Given the description of an element on the screen output the (x, y) to click on. 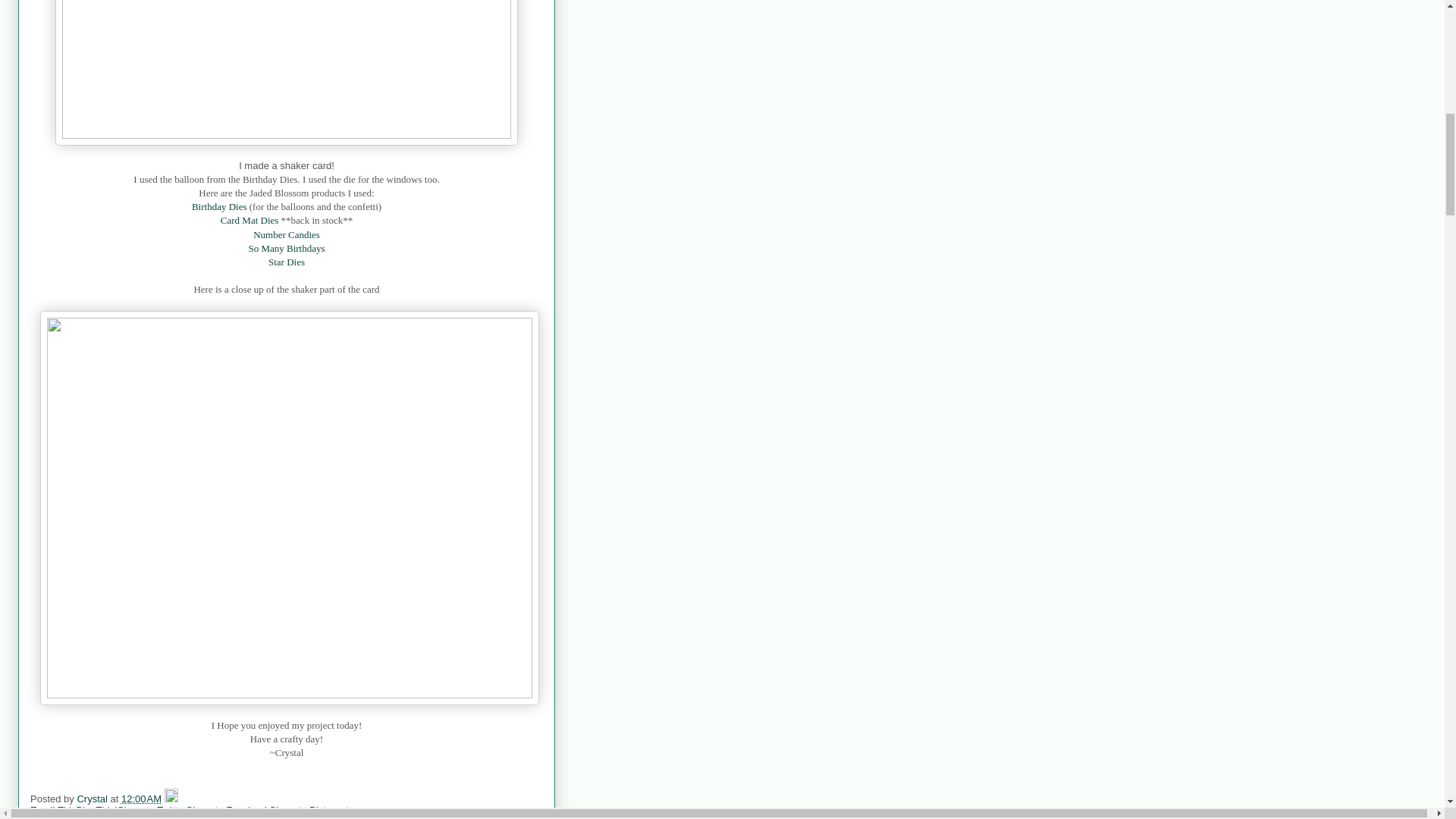
Share to Twitter (151, 809)
Crystal (93, 798)
So Many Birthdays (323, 817)
BlogThis! (95, 809)
Birthday Dies (94, 817)
Number Candies (286, 234)
Email This (52, 809)
Card Mat Dies (160, 817)
Numbers Candies (236, 817)
permanent link (140, 798)
Star Dies (285, 261)
Birthday Dies (219, 206)
Share to Facebook (227, 809)
author profile (93, 798)
Star Dies (389, 817)
